Given the description of an element on the screen output the (x, y) to click on. 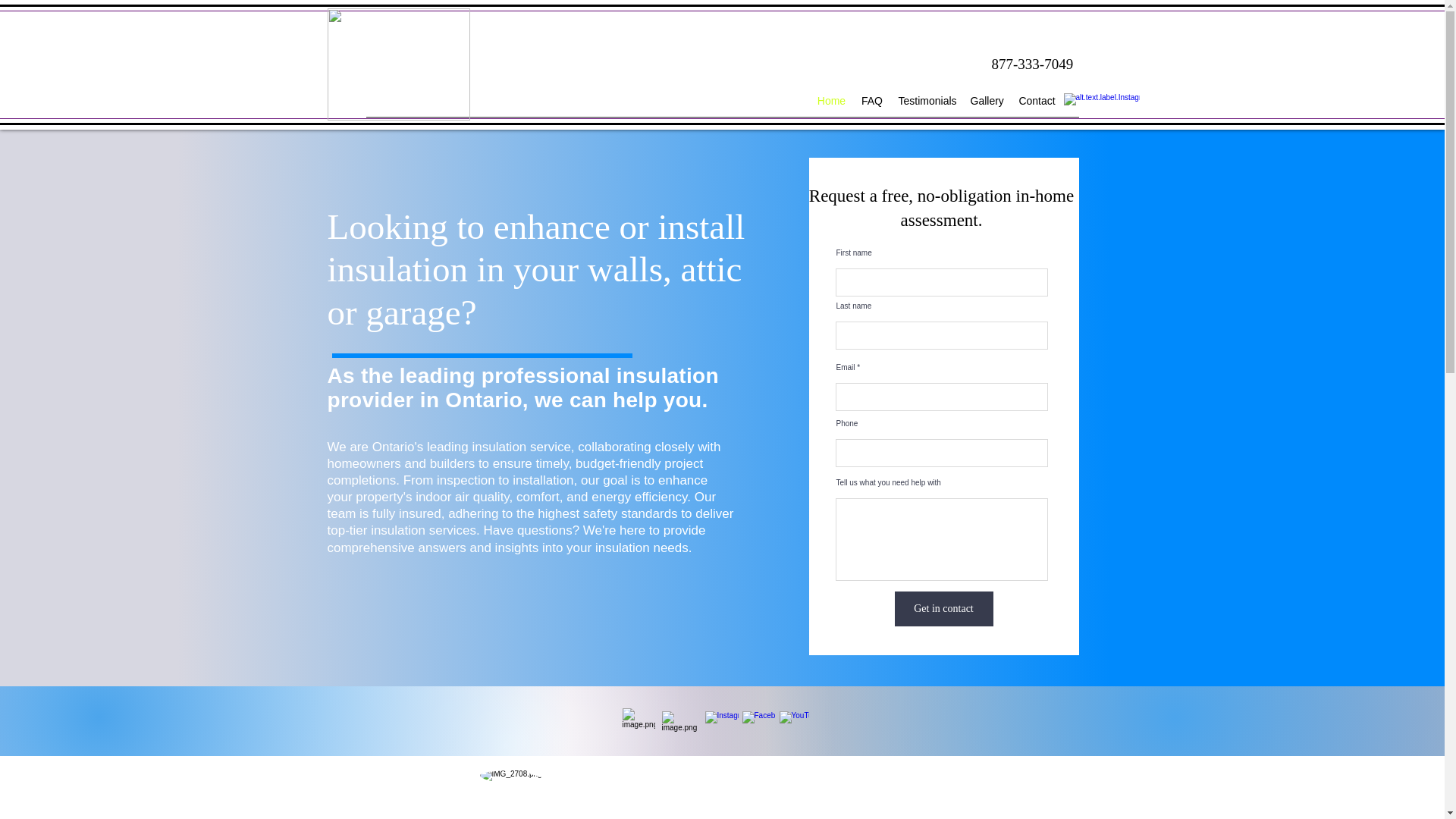
Get in contact (943, 608)
Home (831, 100)
Testimonials (925, 100)
Gallery (986, 100)
FAQ (872, 100)
Contact (1036, 100)
